Given the description of an element on the screen output the (x, y) to click on. 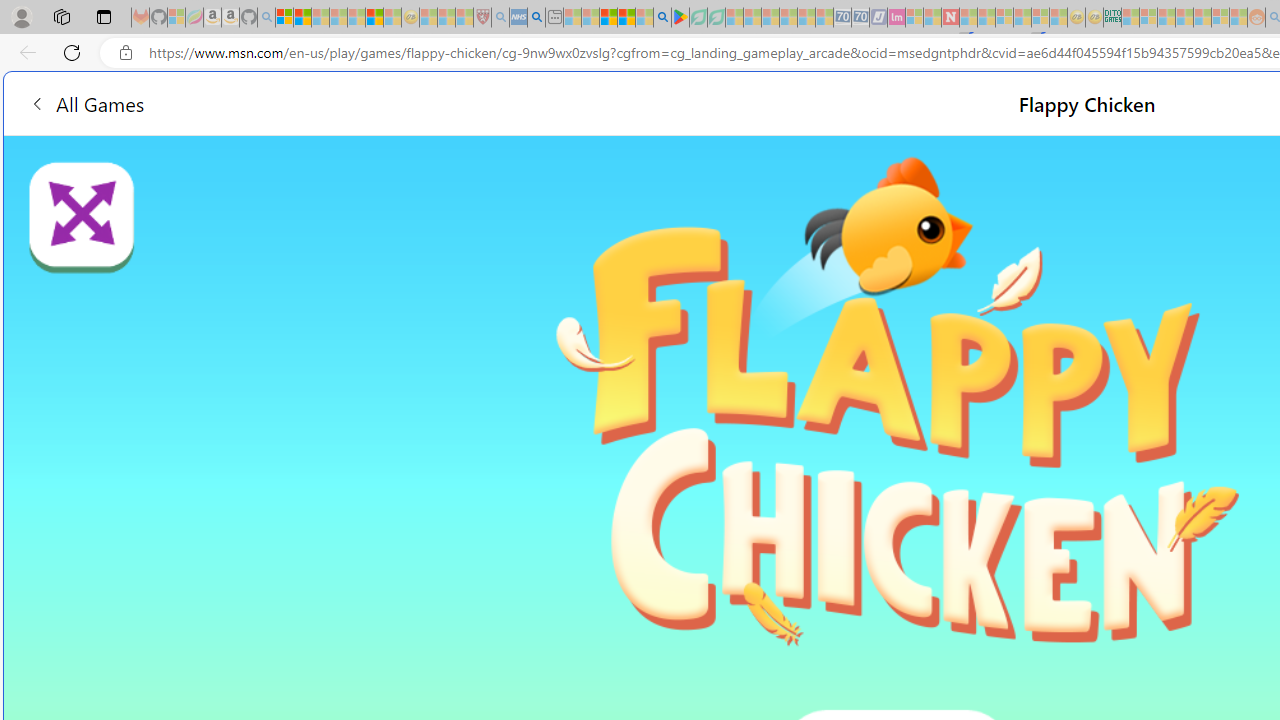
All Games (380, 102)
